Given the description of an element on the screen output the (x, y) to click on. 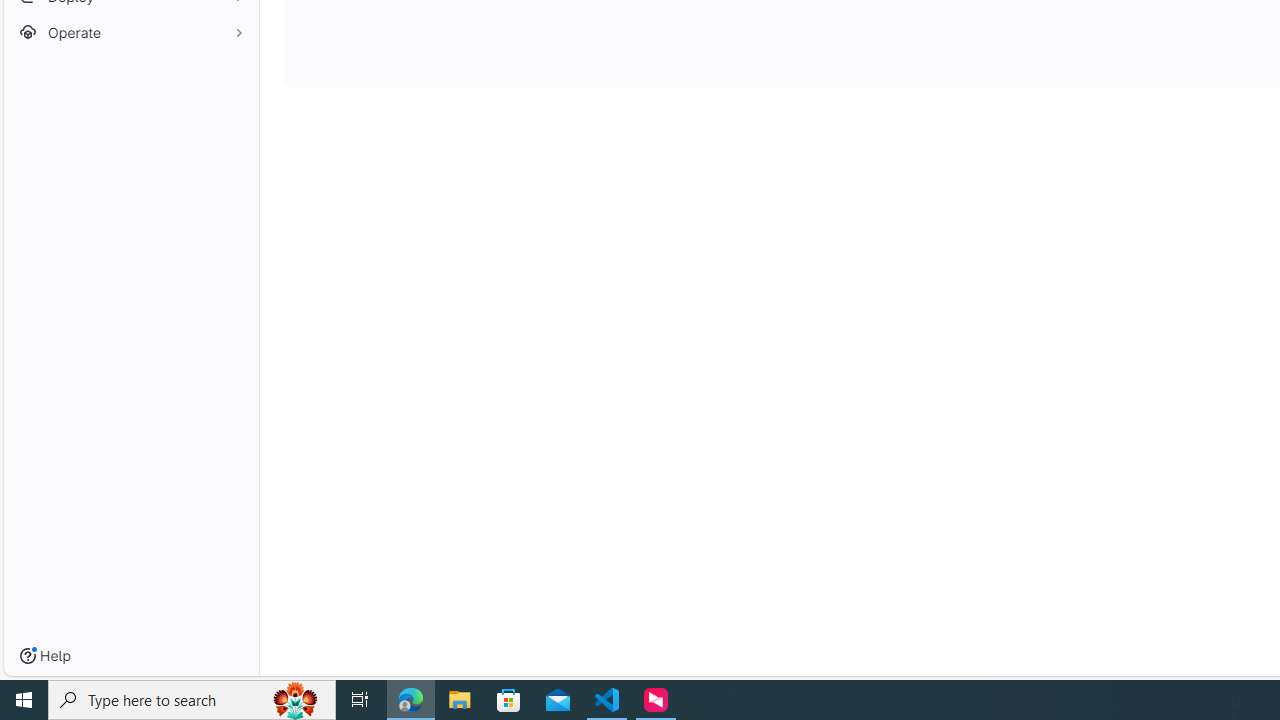
Operate (130, 31)
Help (45, 655)
Operate (130, 31)
